Given the description of an element on the screen output the (x, y) to click on. 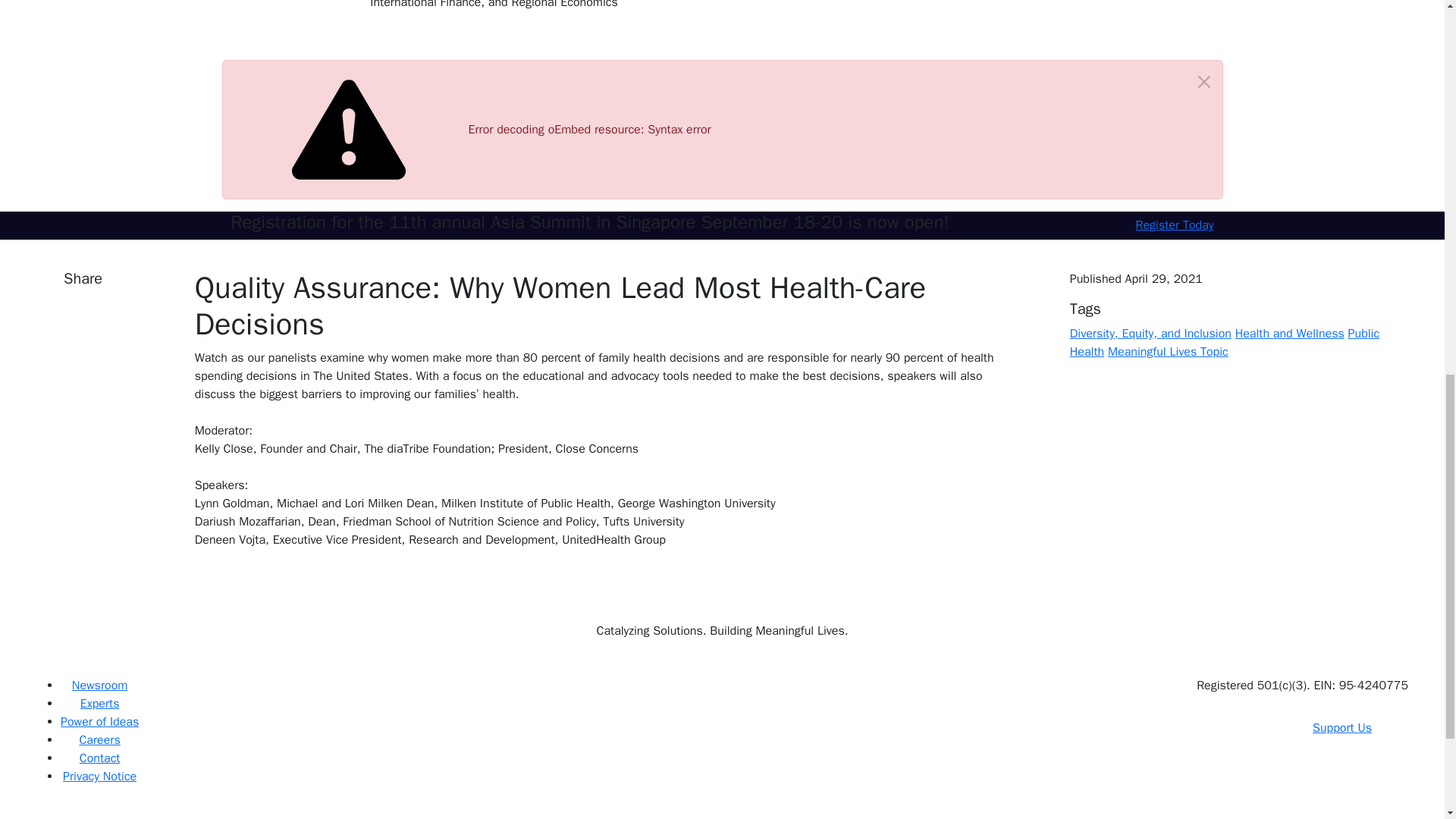
April 29, 2021 (1163, 278)
Register Today (1174, 224)
